Given the description of an element on the screen output the (x, y) to click on. 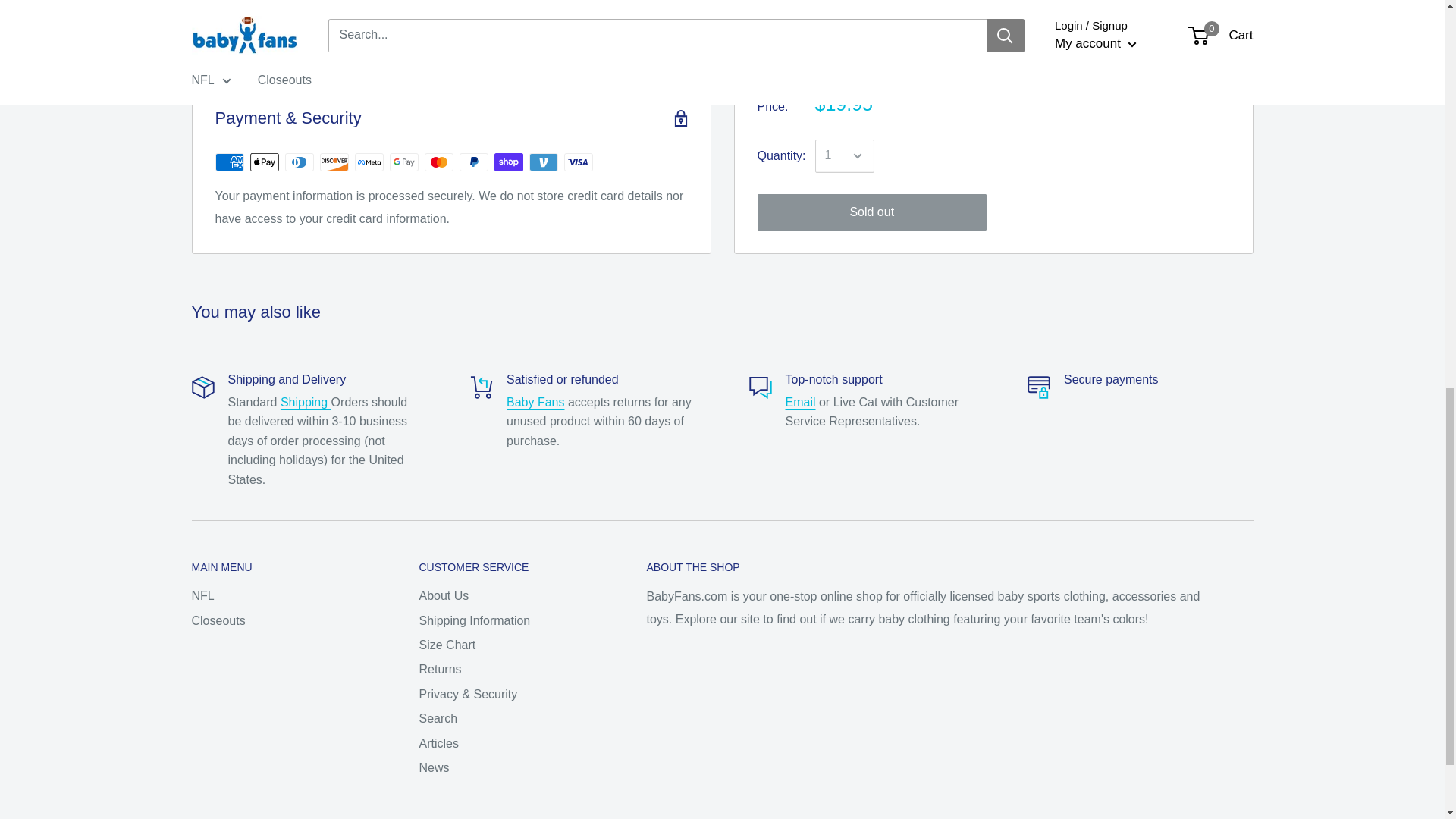
Contact Us (800, 401)
Returns (535, 401)
Shipping Policy (306, 401)
